Given the description of an element on the screen output the (x, y) to click on. 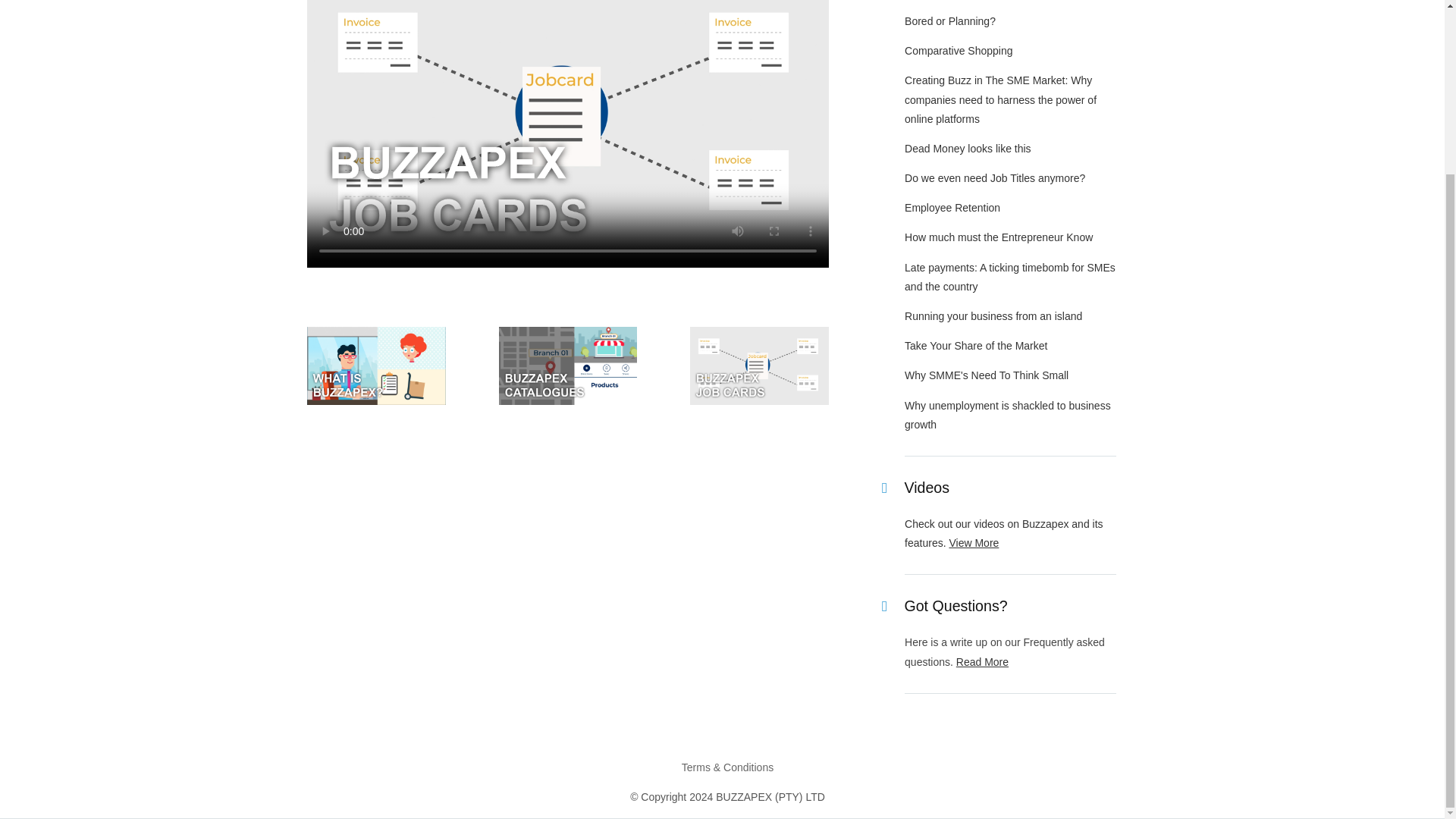
Comparative Shopping (957, 50)
Videos on Buzzapex (973, 542)
Late payments: A ticking timebomb for SMEs and the country (1009, 276)
Frequently asked Questions on Buzzapex (982, 662)
View More (973, 542)
Dead Money looks like this (967, 148)
Why SMME's Need To Think Small (986, 375)
Bored or Planning? (949, 21)
Take Your Share of the Market (975, 345)
Check out our videos on Buzzapex and its features. (1003, 532)
Do we even need Job Titles anymore? (994, 177)
Buzzapex Jobcards (759, 400)
Why unemployment is shackled to business growth (1007, 414)
Read More (982, 662)
